Given the description of an element on the screen output the (x, y) to click on. 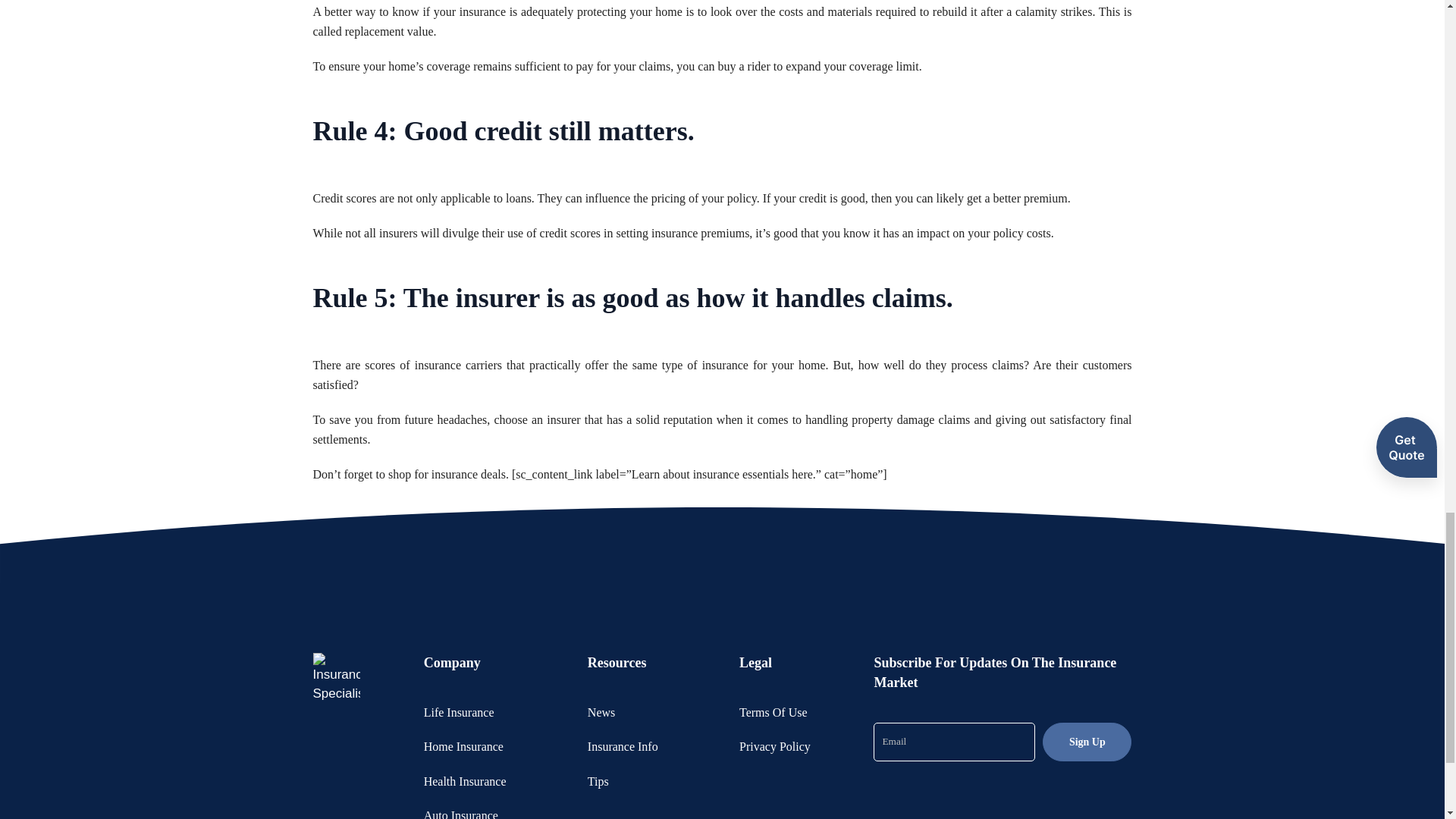
Tips (598, 780)
Privacy Policy (774, 746)
Home Insurance (463, 746)
Terms Of Use (773, 712)
Auto Insurance (460, 814)
Life Insurance (459, 712)
Sign Up (1086, 741)
Health Insurance (464, 780)
Insurance Info (623, 746)
News (601, 712)
